Given the description of an element on the screen output the (x, y) to click on. 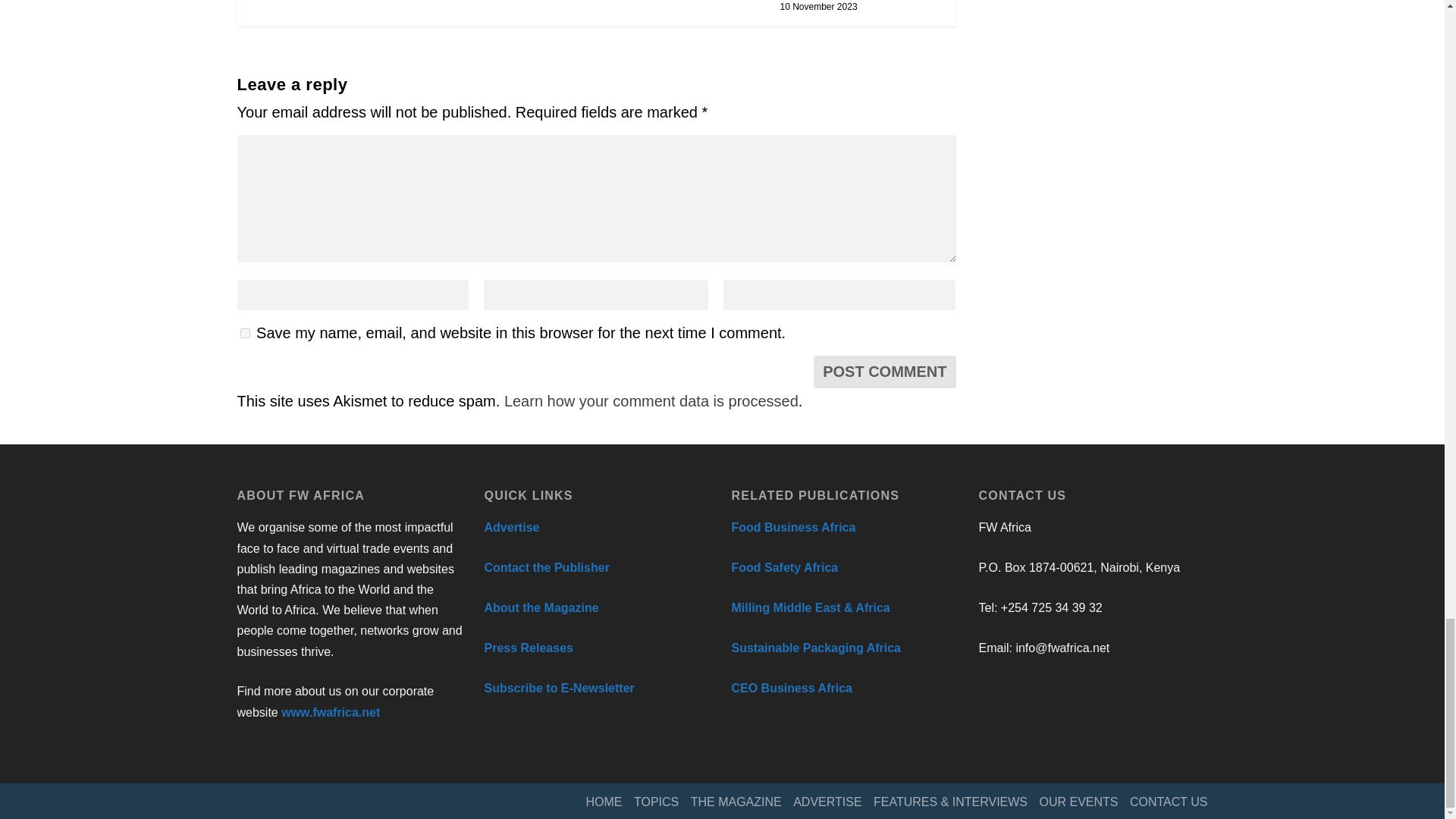
yes (244, 333)
Post Comment (884, 371)
